Given the description of an element on the screen output the (x, y) to click on. 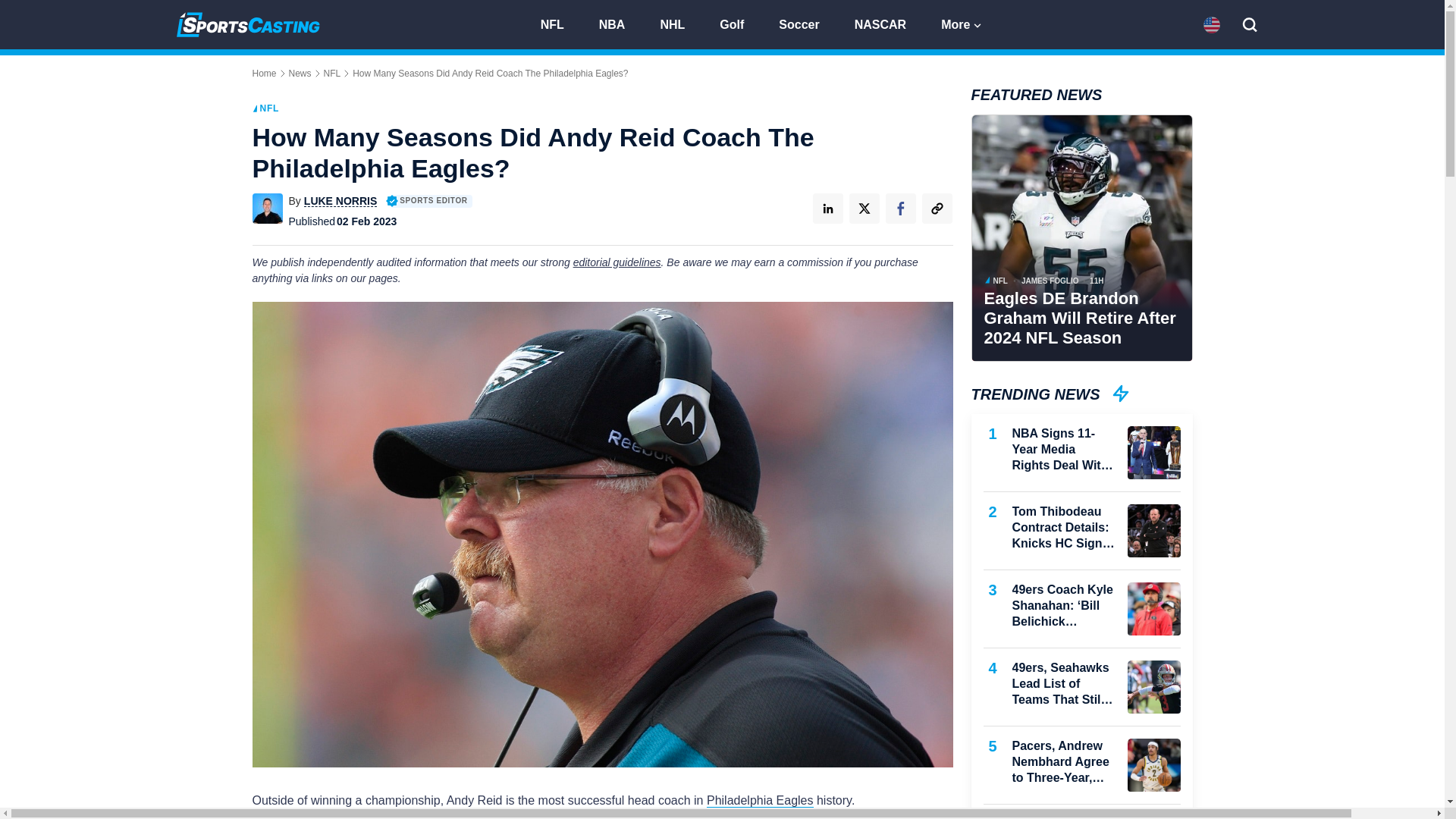
News (299, 72)
More (962, 22)
Home (263, 72)
NFL (331, 72)
Golf (738, 22)
NBA (618, 22)
NASCAR (887, 22)
NHL (679, 22)
Soccer (805, 22)
NFL (558, 22)
